Given the description of an element on the screen output the (x, y) to click on. 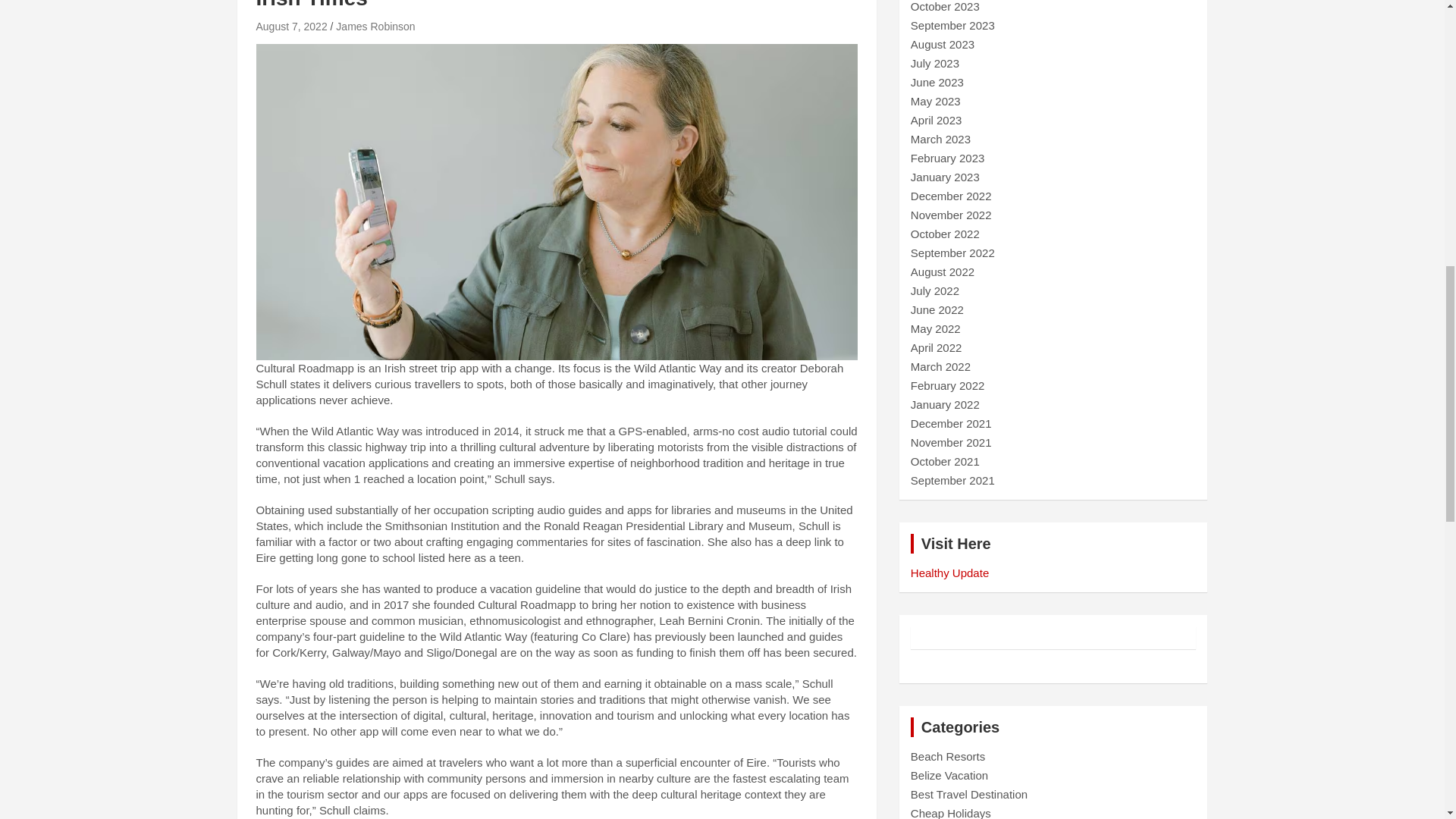
August 7, 2022 (291, 26)
James Robinson (375, 26)
